Given the description of an element on the screen output the (x, y) to click on. 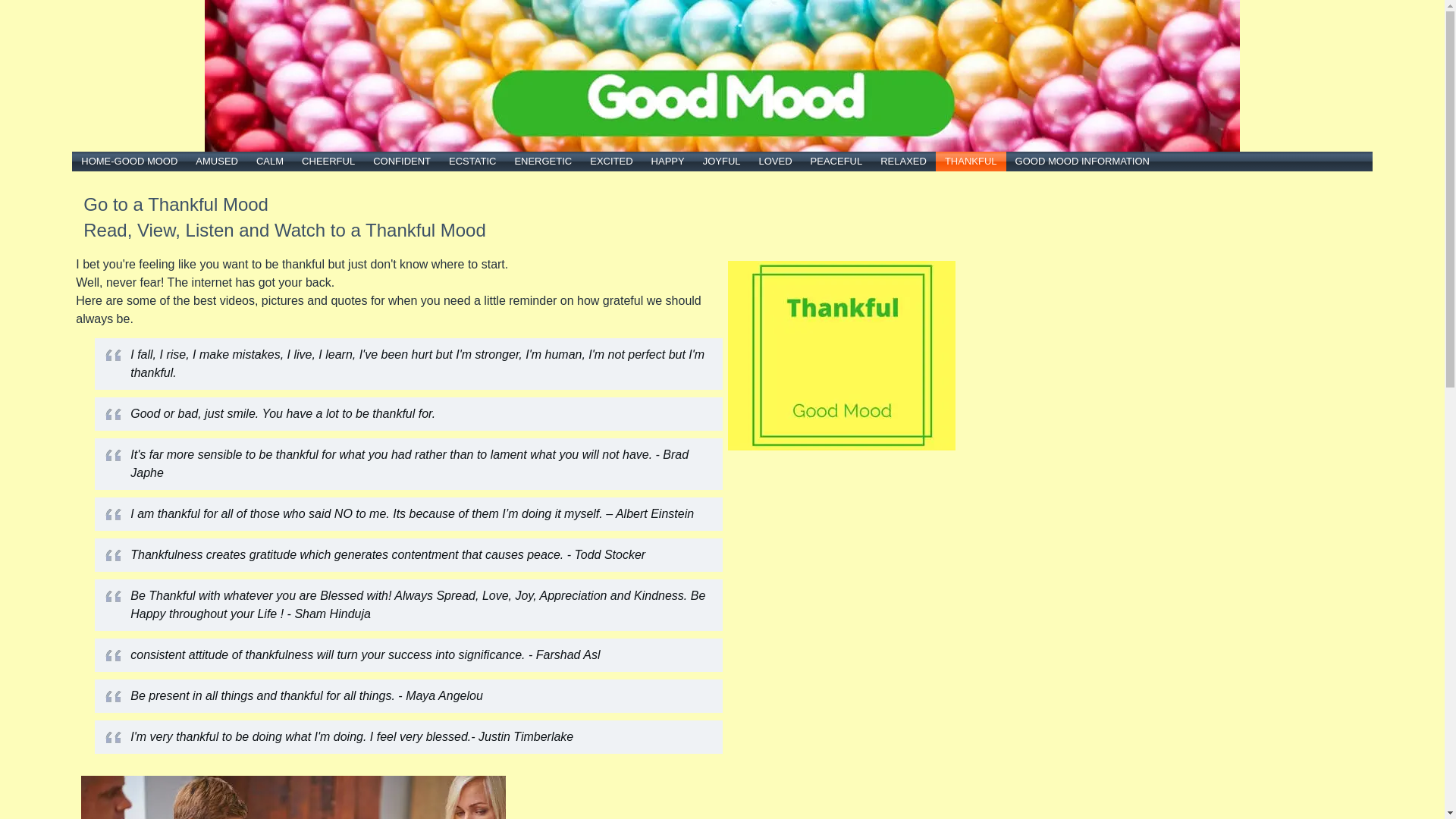
ENERGETIC Element type: text (542, 161)
HOME-GOOD MOOD Element type: text (129, 161)
LOVED Element type: text (774, 161)
CALM Element type: text (269, 161)
HAPPY Element type: text (667, 161)
AMUSED Element type: text (216, 161)
CONFIDENT Element type: text (401, 161)
THANKFUL Element type: text (970, 161)
RELAXED Element type: text (903, 161)
EXCITED Element type: text (610, 161)
ECSTATIC Element type: text (472, 161)
CHEERFUL Element type: text (328, 161)
PEACEFUL Element type: text (836, 161)
GOOD MOOD INFORMATION Element type: text (1082, 161)
JOYFUL Element type: text (721, 161)
